Given the description of an element on the screen output the (x, y) to click on. 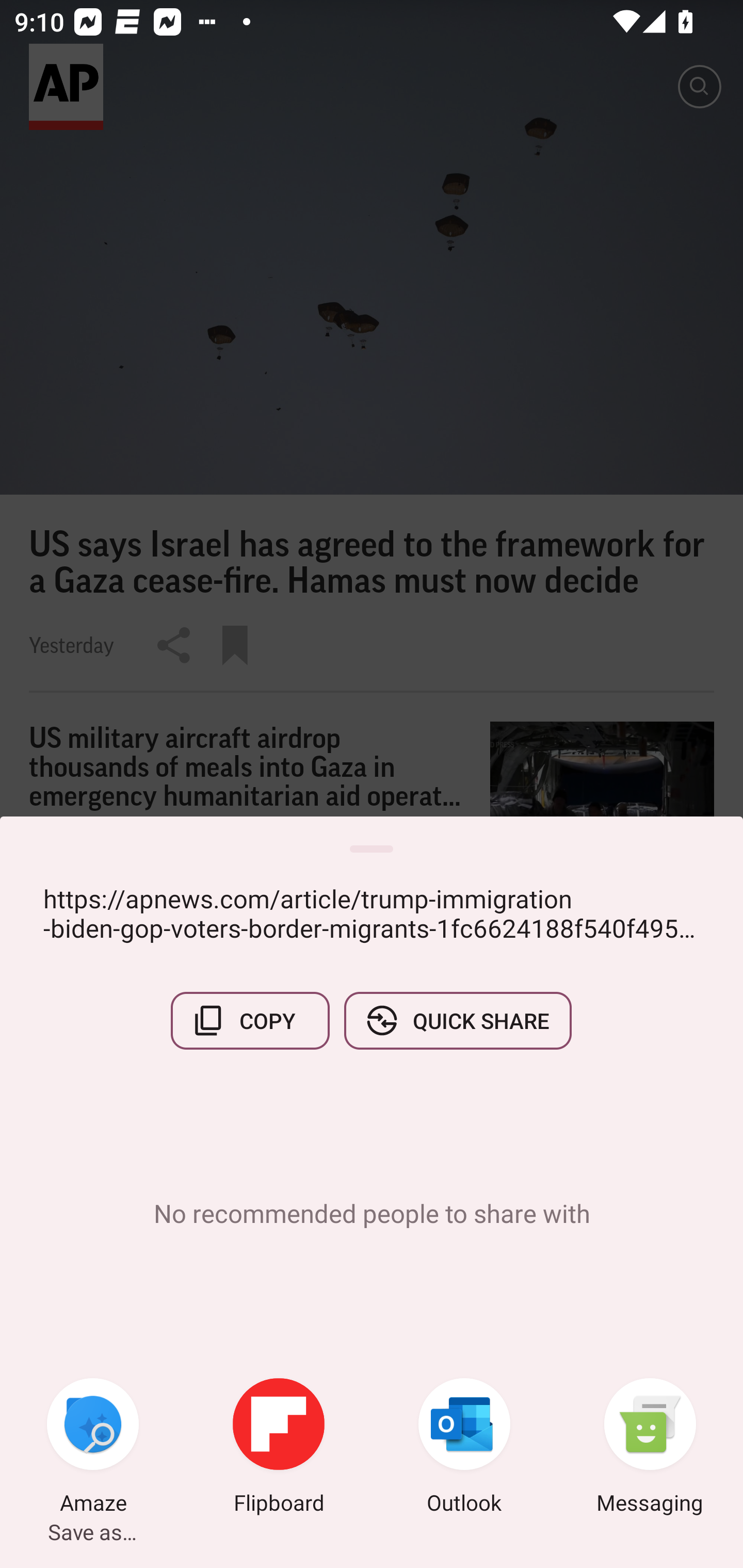
COPY (249, 1020)
QUICK SHARE (457, 1020)
Amaze Save as… (92, 1448)
Flipboard (278, 1448)
Outlook (464, 1448)
Messaging (650, 1448)
